Given the description of an element on the screen output the (x, y) to click on. 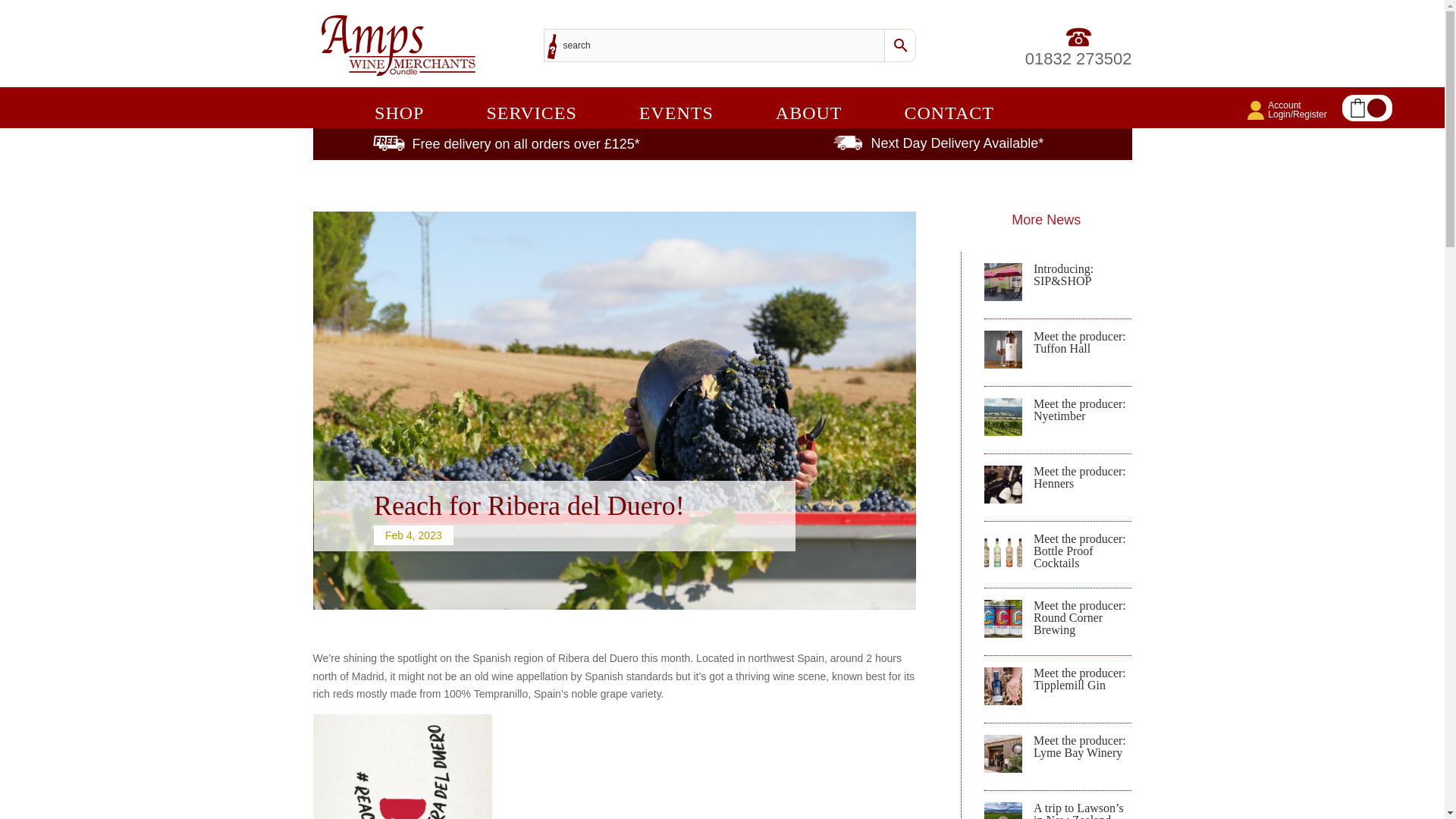
SHOP (421, 115)
Amps-Logo-Red-45 (683, 107)
